Given the description of an element on the screen output the (x, y) to click on. 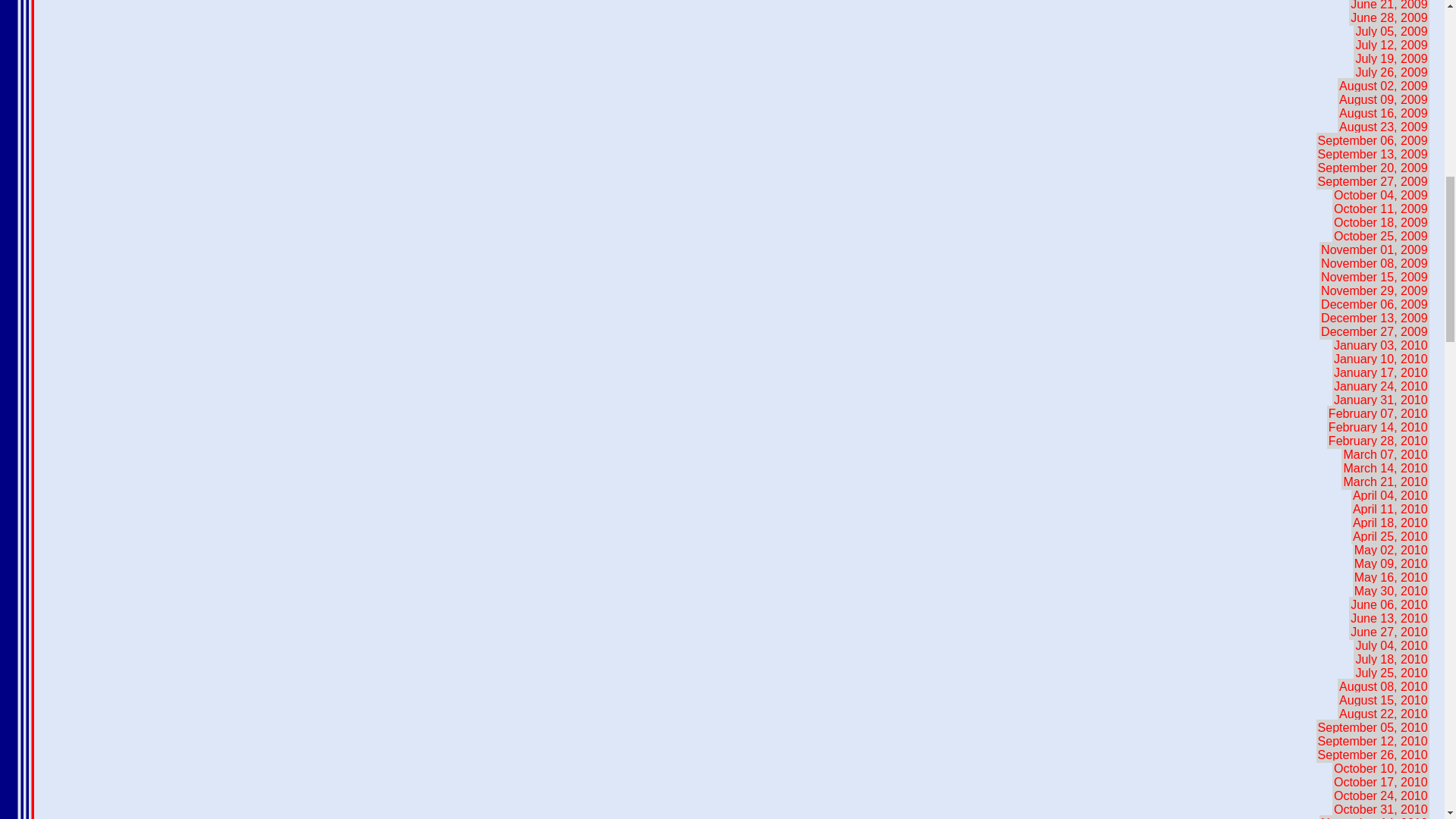
July 05, 2009 (1391, 31)
September 06, 2009 (1372, 140)
August 09, 2009 (1383, 99)
November 01, 2009 (1374, 249)
October 04, 2009 (1380, 195)
November 15, 2009 (1374, 277)
December 27, 2009 (1374, 331)
October 11, 2009 (1380, 208)
September 13, 2009 (1372, 154)
July 26, 2009 (1391, 72)
August 02, 2009 (1383, 85)
July 12, 2009 (1391, 44)
June 21, 2009 (1388, 6)
December 13, 2009 (1374, 317)
December 06, 2009 (1374, 304)
